Given the description of an element on the screen output the (x, y) to click on. 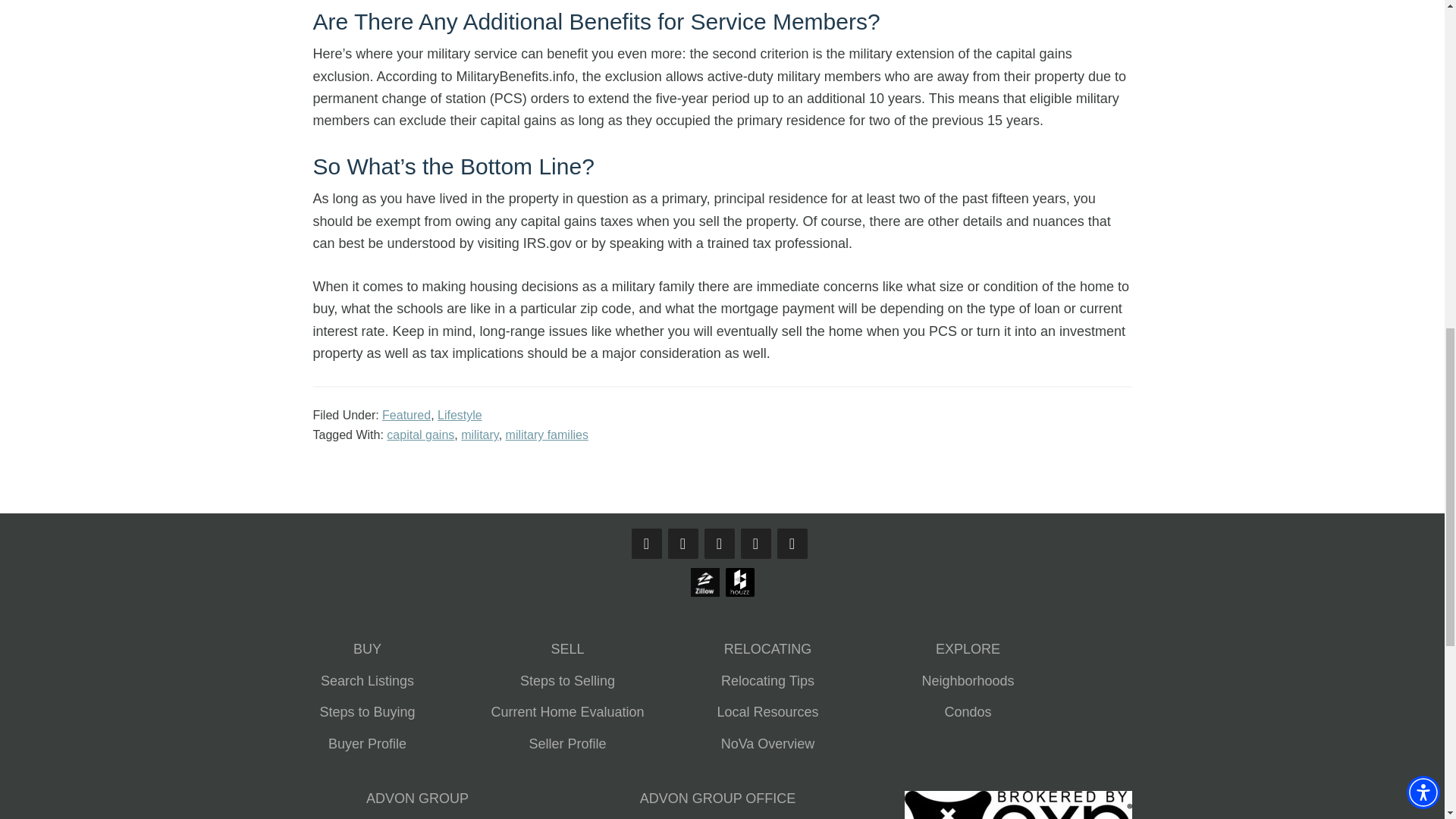
Houzz (739, 595)
Houzz (739, 582)
Lifestyle (459, 414)
Zillow (704, 582)
Zillow (704, 595)
Featured (405, 414)
